Given the description of an element on the screen output the (x, y) to click on. 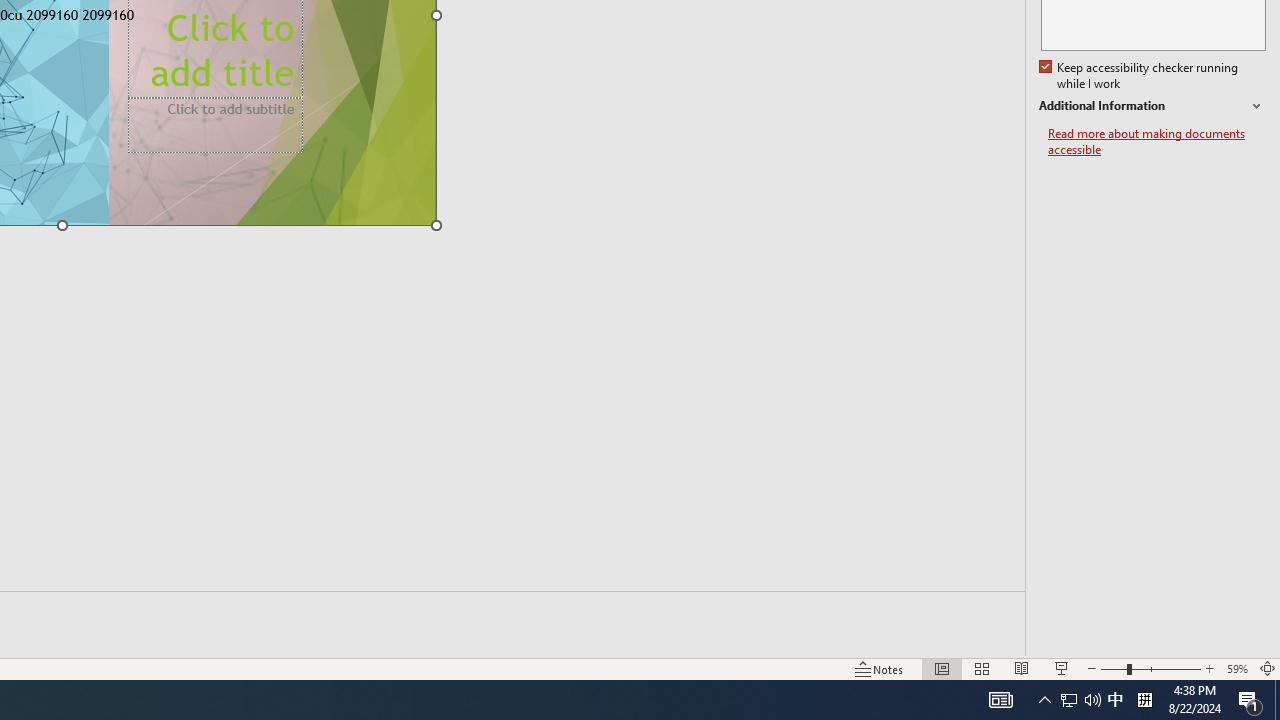
Zoom 59% (1236, 668)
